Given the description of an element on the screen output the (x, y) to click on. 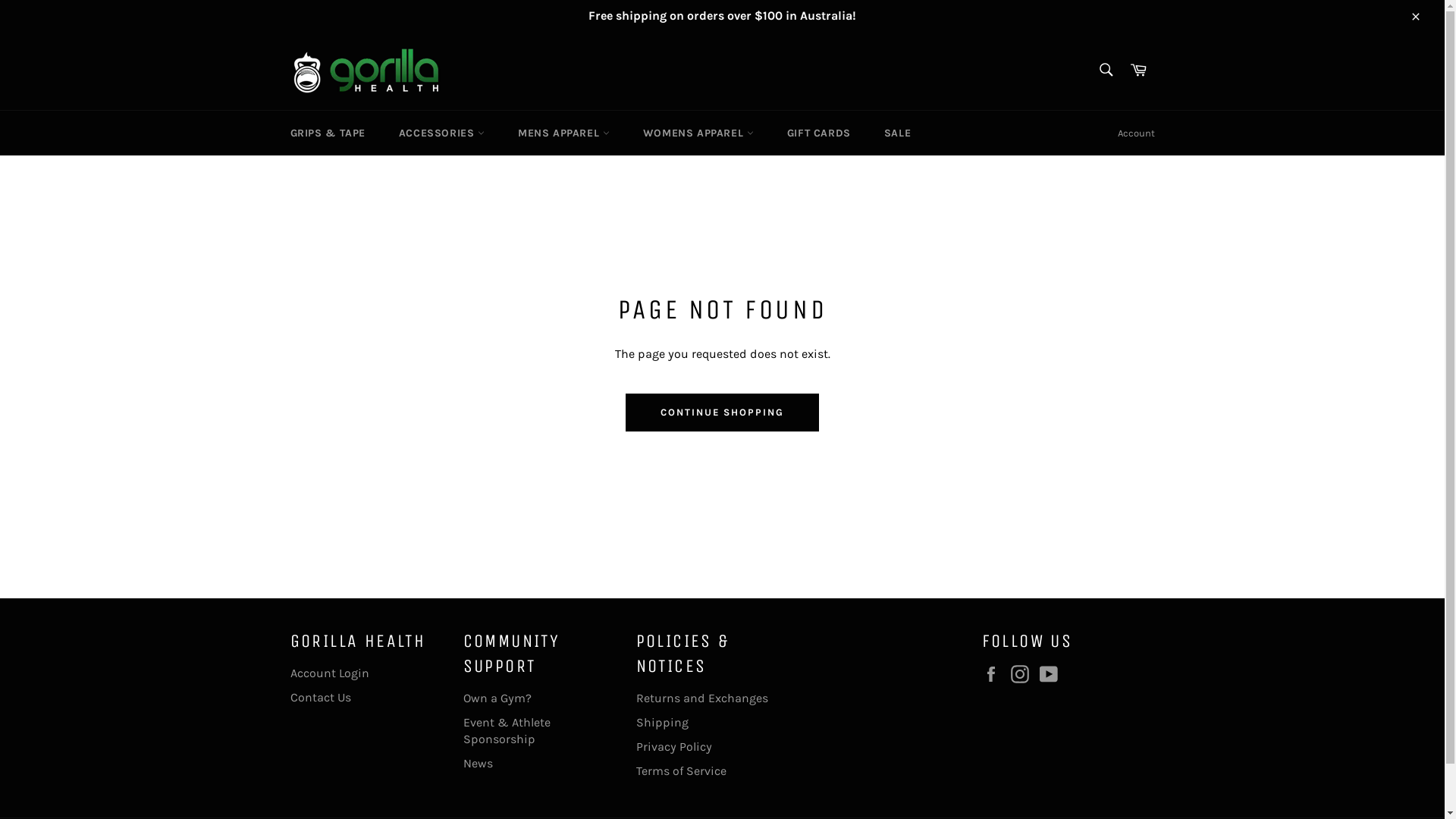
Returns and Exchanges Element type: text (701, 697)
GIFT CARDS Element type: text (818, 132)
GRIPS & TAPE Element type: text (326, 132)
Facebook Element type: text (994, 674)
Own a Gym? Element type: text (496, 697)
Close Element type: text (1414, 15)
Cart Element type: text (1138, 70)
ACCESSORIES Element type: text (441, 132)
CONTINUE SHOPPING Element type: text (722, 412)
Privacy Policy Element type: text (673, 746)
Shipping Element type: text (661, 722)
Account Element type: text (1136, 133)
Account Login Element type: text (328, 672)
Contact Us Element type: text (319, 697)
MENS APPAREL Element type: text (563, 132)
YouTube Element type: text (1051, 674)
Event & Athlete Sponsorship Element type: text (505, 730)
News Element type: text (477, 763)
SALE Element type: text (897, 132)
Terms of Service Element type: text (680, 770)
Search Element type: text (1105, 69)
WOMENS APPAREL Element type: text (697, 132)
Instagram Element type: text (1022, 674)
